Given the description of an element on the screen output the (x, y) to click on. 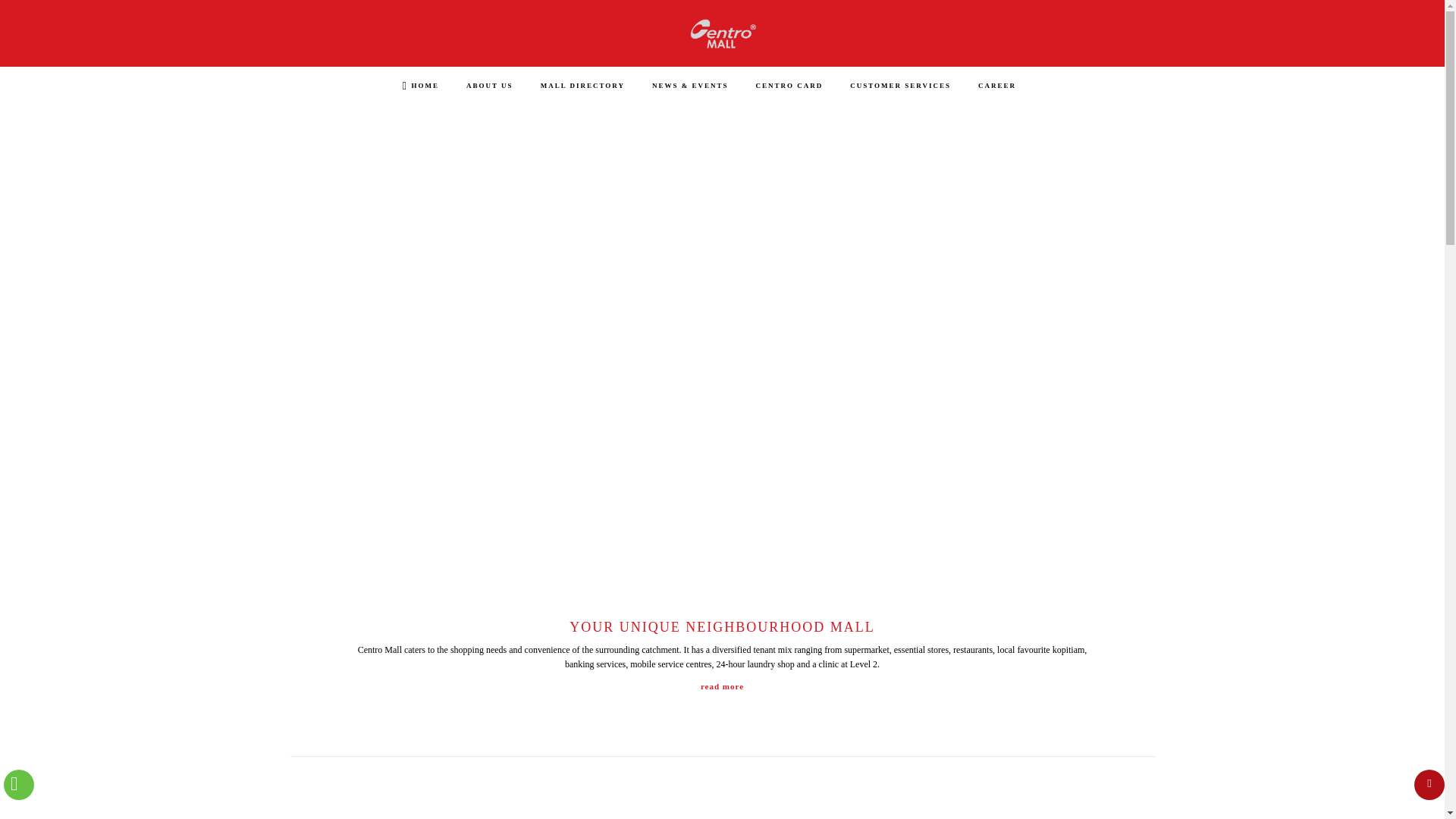
CAREER (997, 85)
Career (997, 85)
Customer Services (900, 85)
ABOUT US (489, 85)
About Us (489, 85)
Centro Card (788, 85)
read more (722, 687)
MALL DIRECTORY (582, 85)
CENTRO CARD (788, 85)
Mall Directory (582, 85)
